Given the description of an element on the screen output the (x, y) to click on. 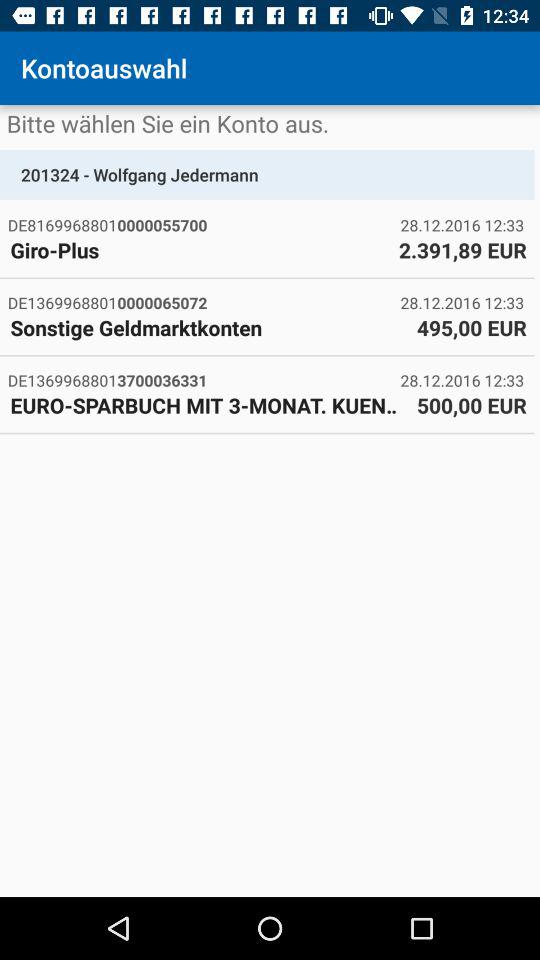
turn off de81699688010000055700 (203, 224)
